Given the description of an element on the screen output the (x, y) to click on. 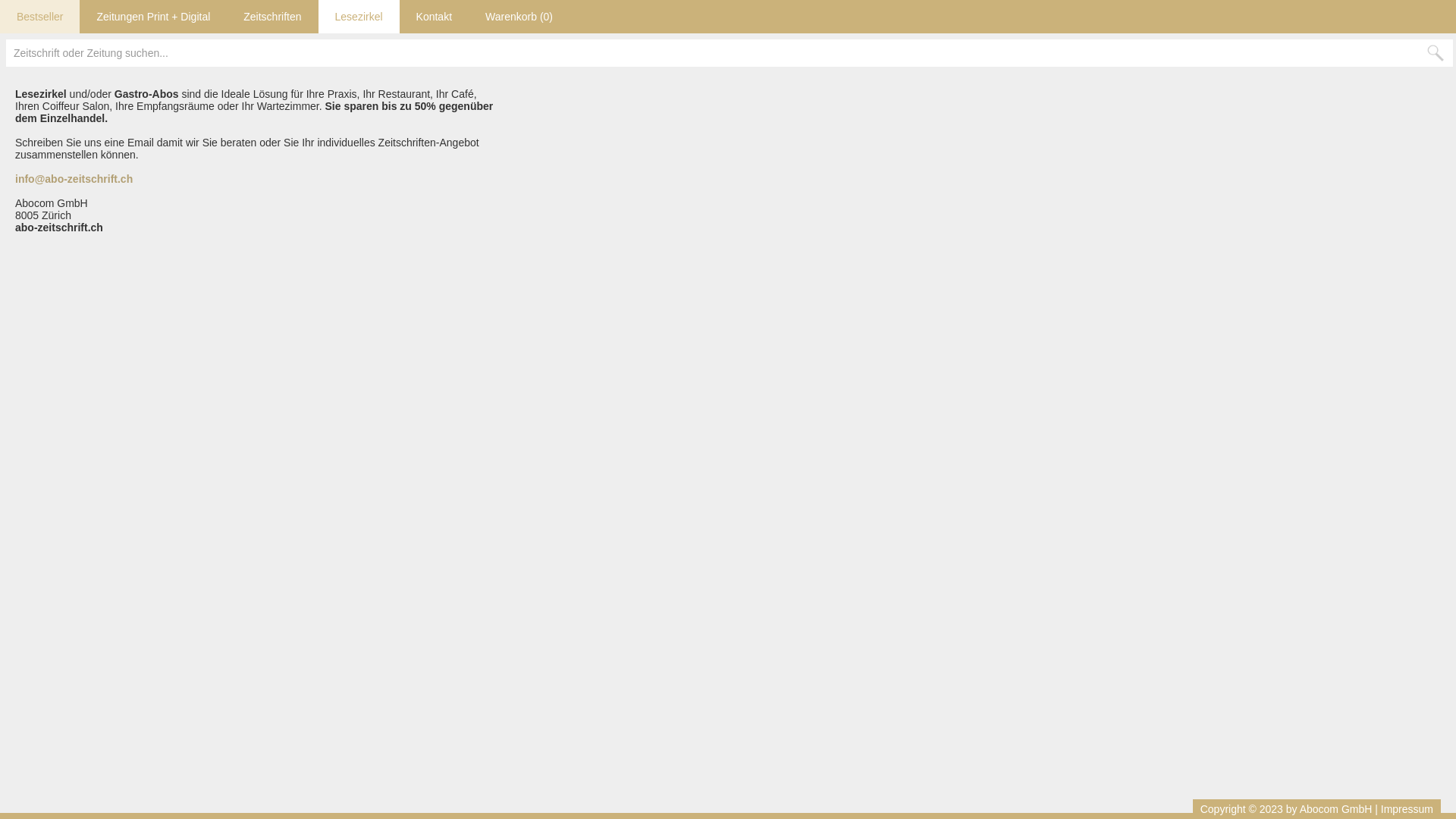
Bestseller Element type: text (39, 16)
Warenkorb (0) Element type: text (518, 16)
Bestseller Element type: text (39, 16)
Zeitschriften Element type: text (272, 16)
info@abo-zeitschrift.ch Element type: text (73, 178)
Impressum Element type: text (1406, 809)
Lesezirkel Element type: text (358, 16)
Lesezirkel Element type: text (358, 16)
Zeitungen Print + Digital Element type: text (153, 16)
Warenkorb (0) Element type: text (518, 16)
Kontakt Element type: text (433, 16)
Kontakt Element type: text (433, 16)
